Given the description of an element on the screen output the (x, y) to click on. 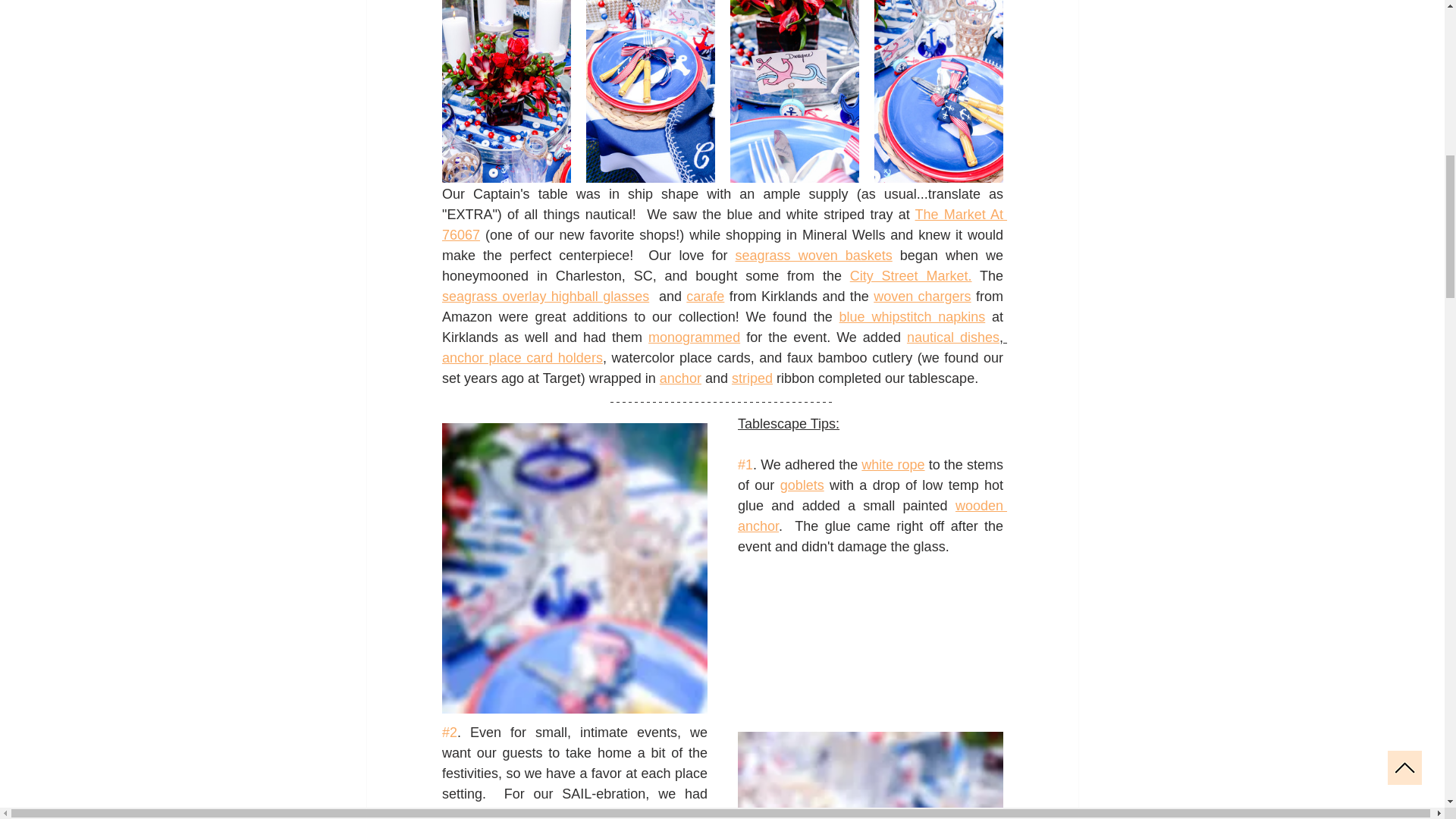
white rope (892, 464)
carafe (704, 296)
seagrass woven baskets (813, 255)
nautical dishes (951, 337)
anchor place card holders (521, 357)
monogrammed (693, 337)
wooden anchor (871, 515)
cellophane bags (492, 812)
striped (750, 378)
seagrass overlay highball glasses (544, 296)
woven chargers (922, 296)
anchor (679, 378)
City Street Market. (909, 275)
blue wrapped chocolates (575, 812)
goblets (801, 485)
